Given the description of an element on the screen output the (x, y) to click on. 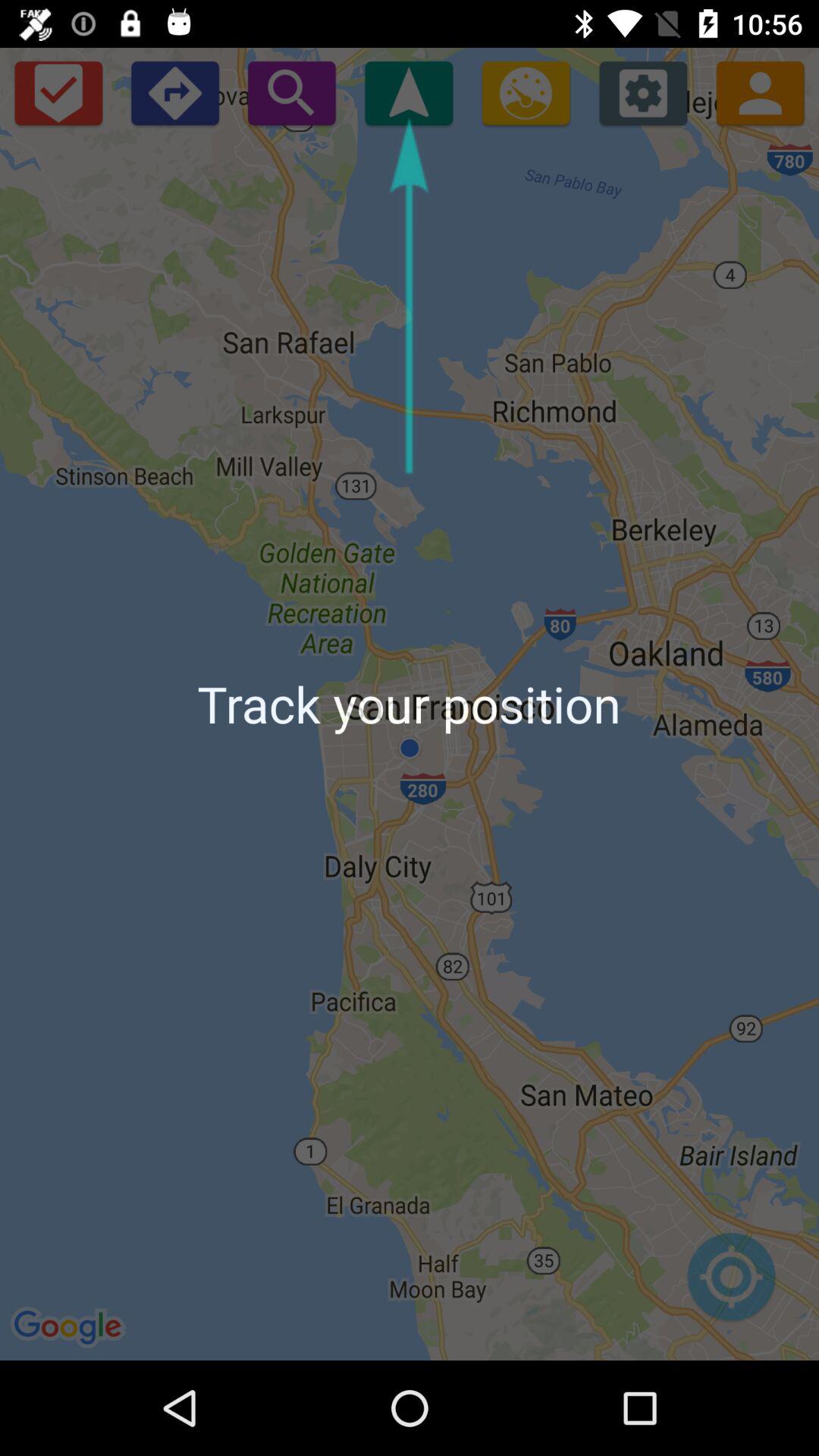
search bar (291, 92)
